Given the description of an element on the screen output the (x, y) to click on. 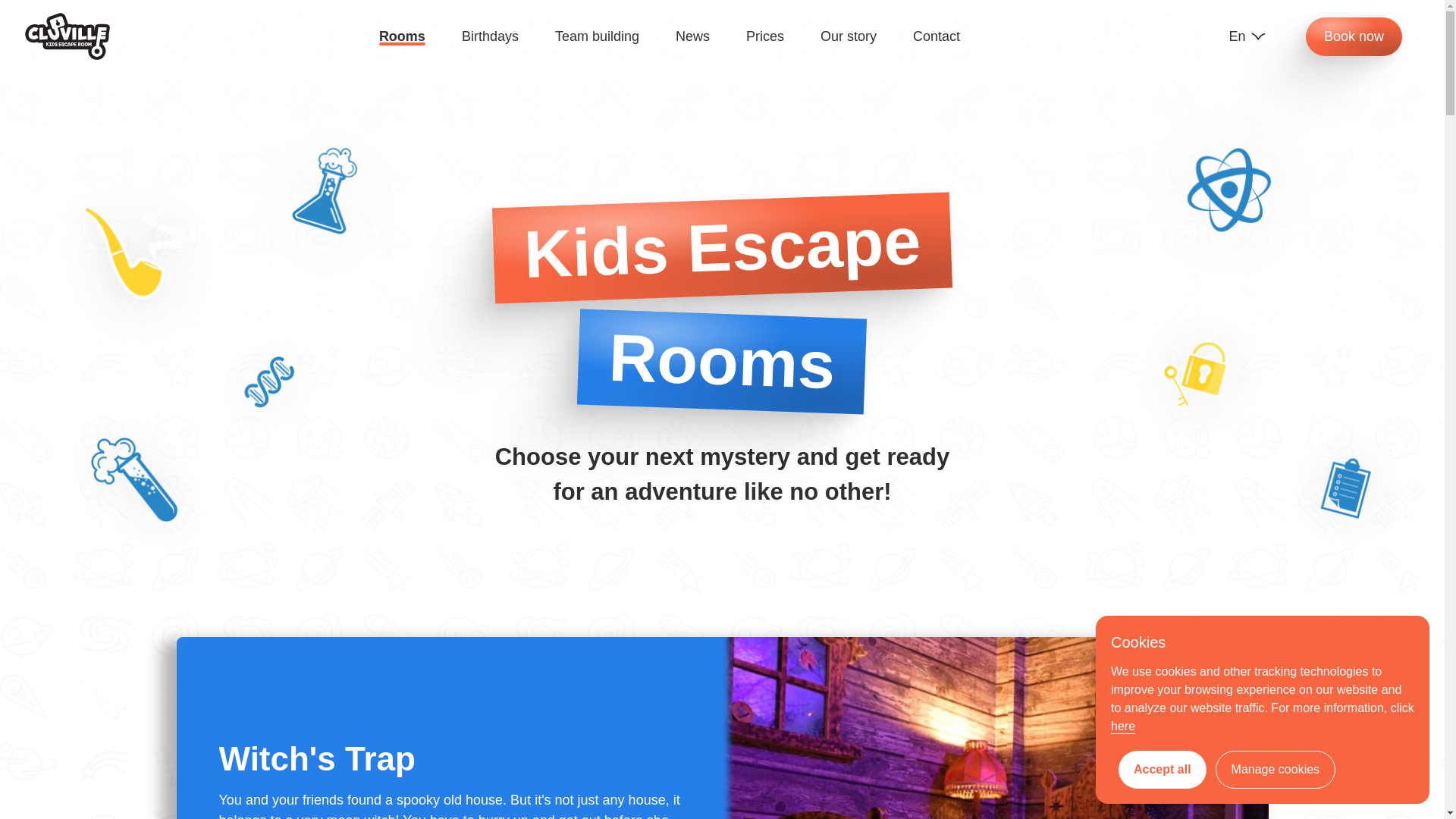
Rooms (401, 36)
Prices (764, 36)
Birthdays (489, 36)
Book now (1363, 36)
Contact (935, 36)
Our story (848, 36)
News (692, 36)
Team building (596, 36)
Book now (1354, 35)
